Given the description of an element on the screen output the (x, y) to click on. 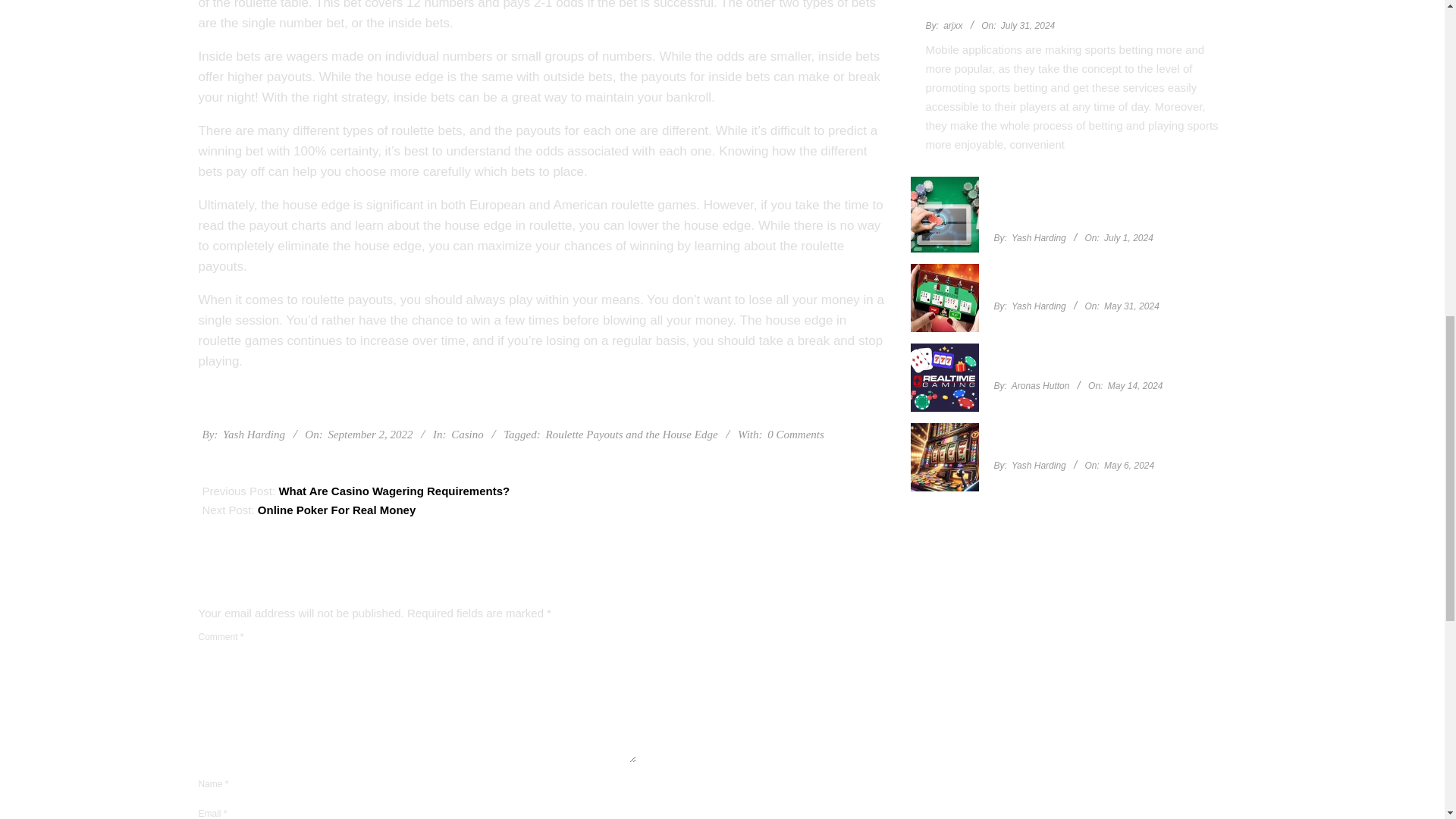
Posts by Aronas Hutton (1040, 385)
Casino (467, 434)
What Are Casino Wagering Requirements? (393, 490)
Friday, September 2, 2022, 9:41 am (369, 434)
Posts by arjxx (952, 25)
Wednesday, July 31, 2024, 10:32 am (1027, 25)
Yash Harding (253, 434)
Posts by Yash Harding (253, 434)
Monday, May 6, 2024, 8:58 am (1128, 465)
Posts by Yash Harding (1038, 306)
